Given the description of an element on the screen output the (x, y) to click on. 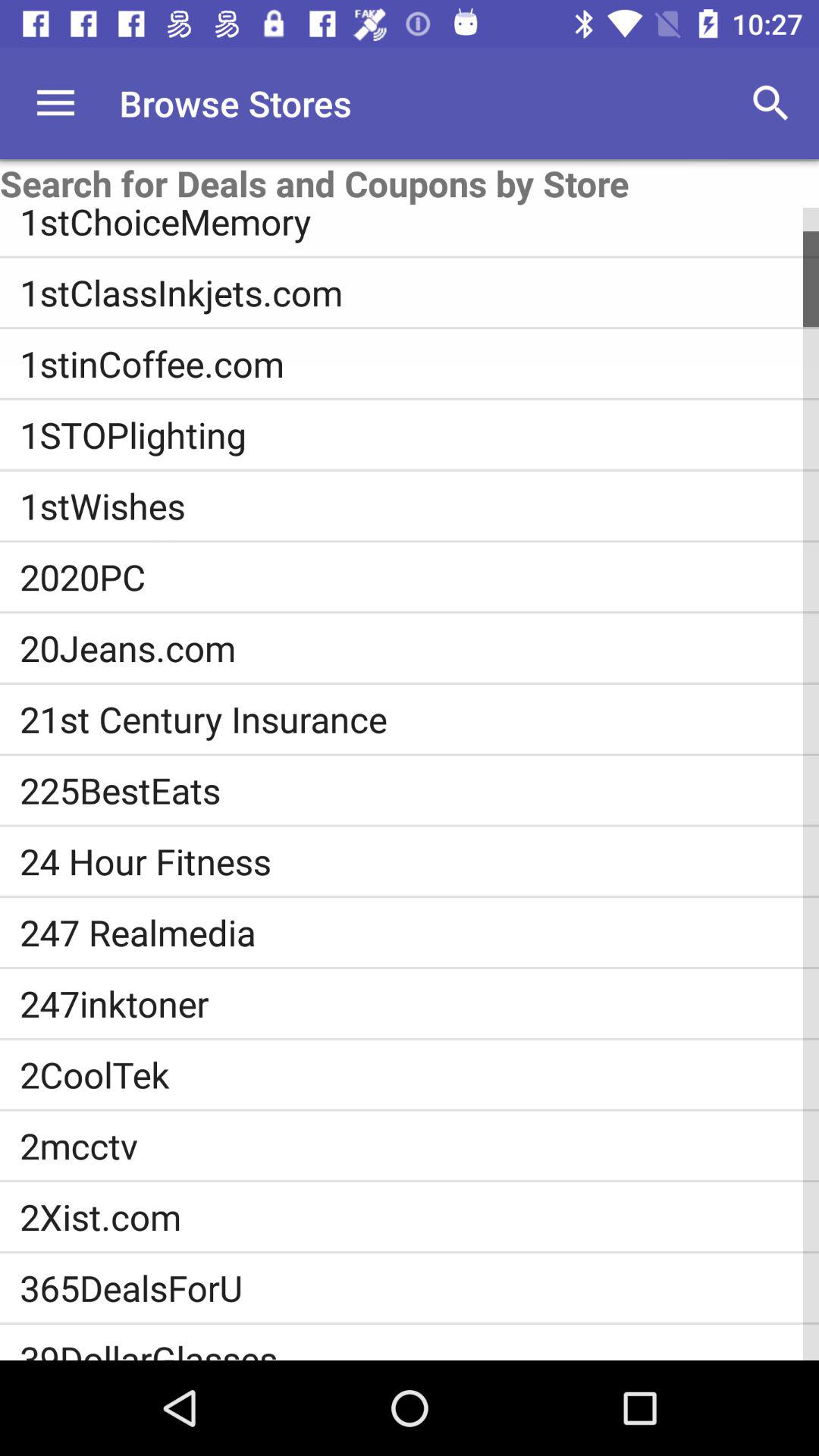
turn off the 39dollarglasses icon (419, 1347)
